Given the description of an element on the screen output the (x, y) to click on. 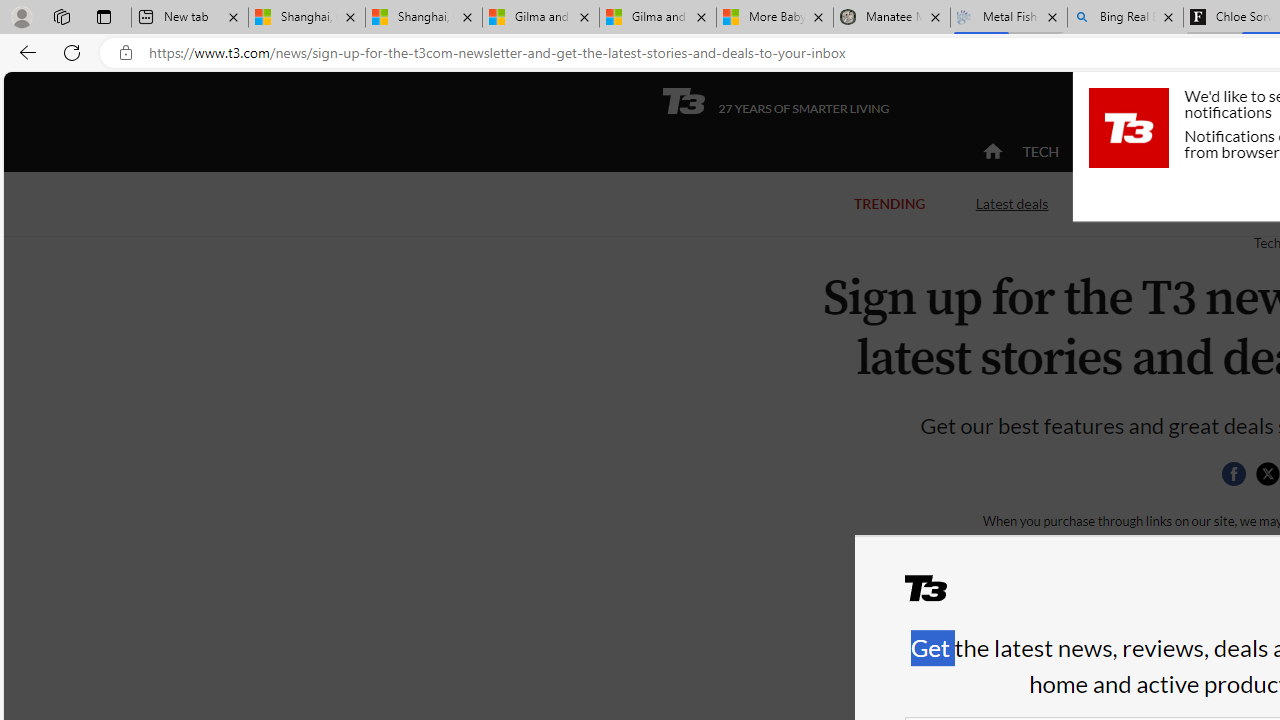
HOME LIVING (1233, 151)
T3 27 YEARS OF SMARTER LIVING (775, 101)
T3 (937, 595)
Class: icon-svg (1267, 474)
ACTIVE (1124, 151)
Back to Class 2024 (1178, 204)
home (992, 152)
Gilma and Hector both pose tropical trouble for Hawaii (657, 17)
Latest deals (1011, 202)
Latest deals (1011, 204)
